Given the description of an element on the screen output the (x, y) to click on. 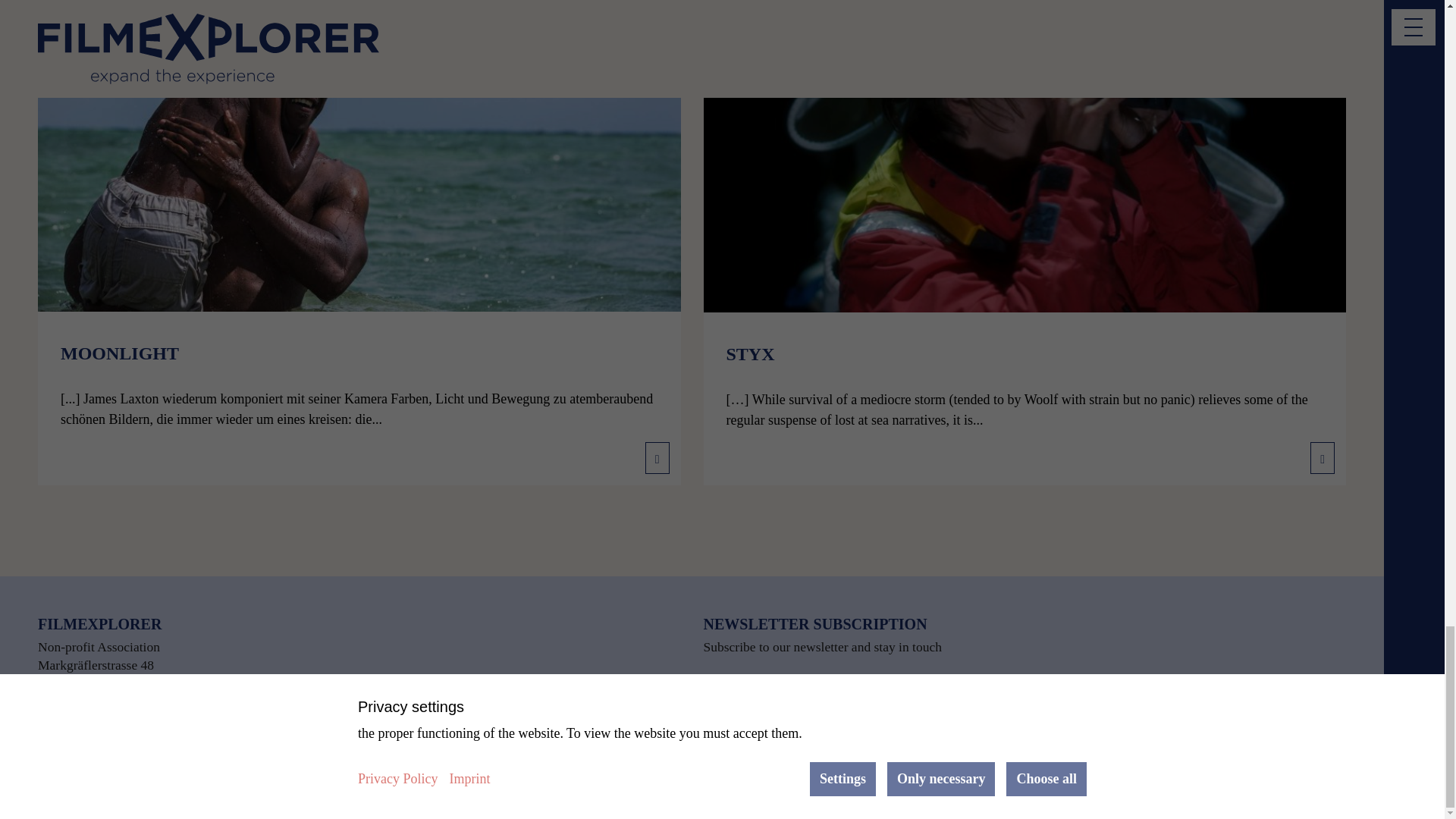
Imprint (1240, 797)
to subscription form (766, 694)
Privacy Policy (1305, 797)
